Given the description of an element on the screen output the (x, y) to click on. 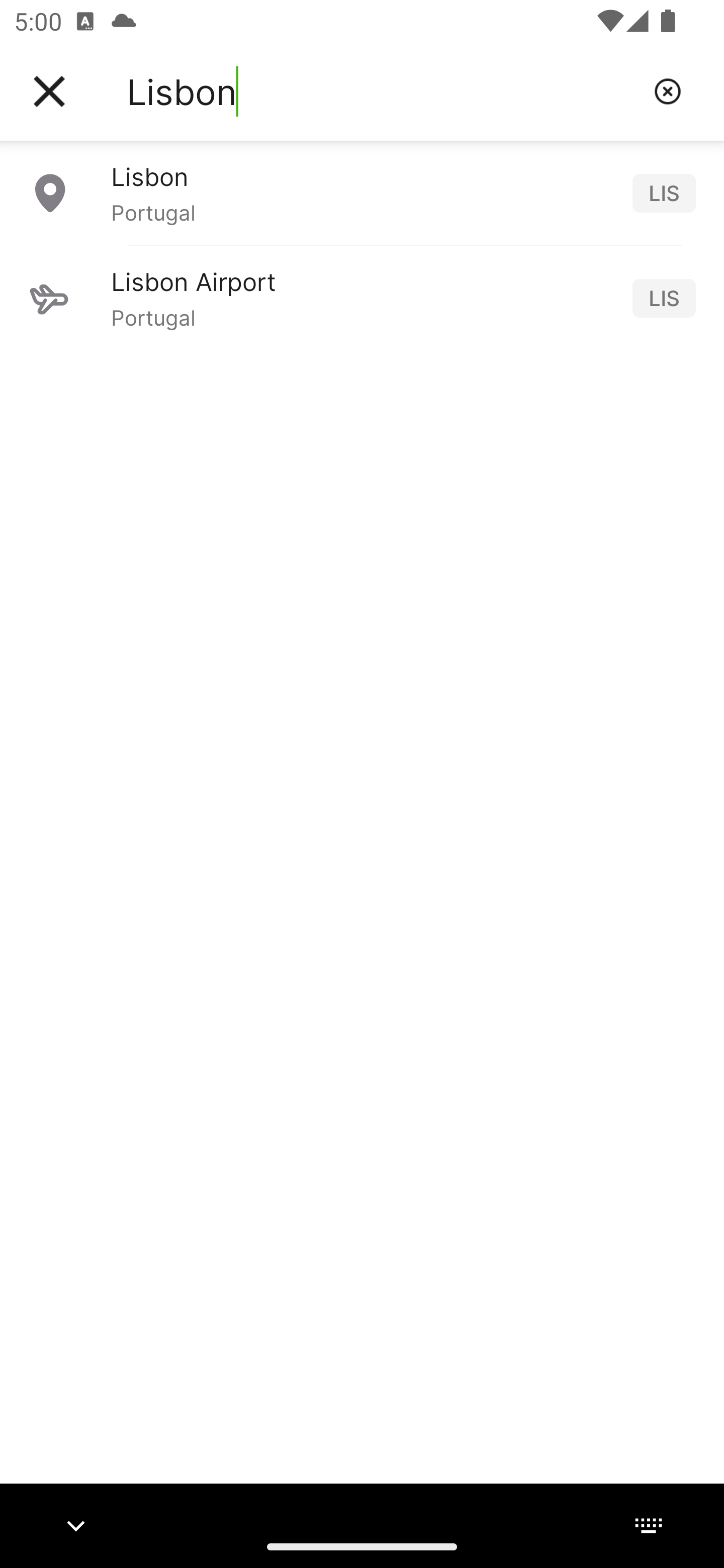
Lisbon (382, 91)
Lisbon Portugal LIS (362, 192)
Lisbon Airport Portugal LIS (362, 297)
